Given the description of an element on the screen output the (x, y) to click on. 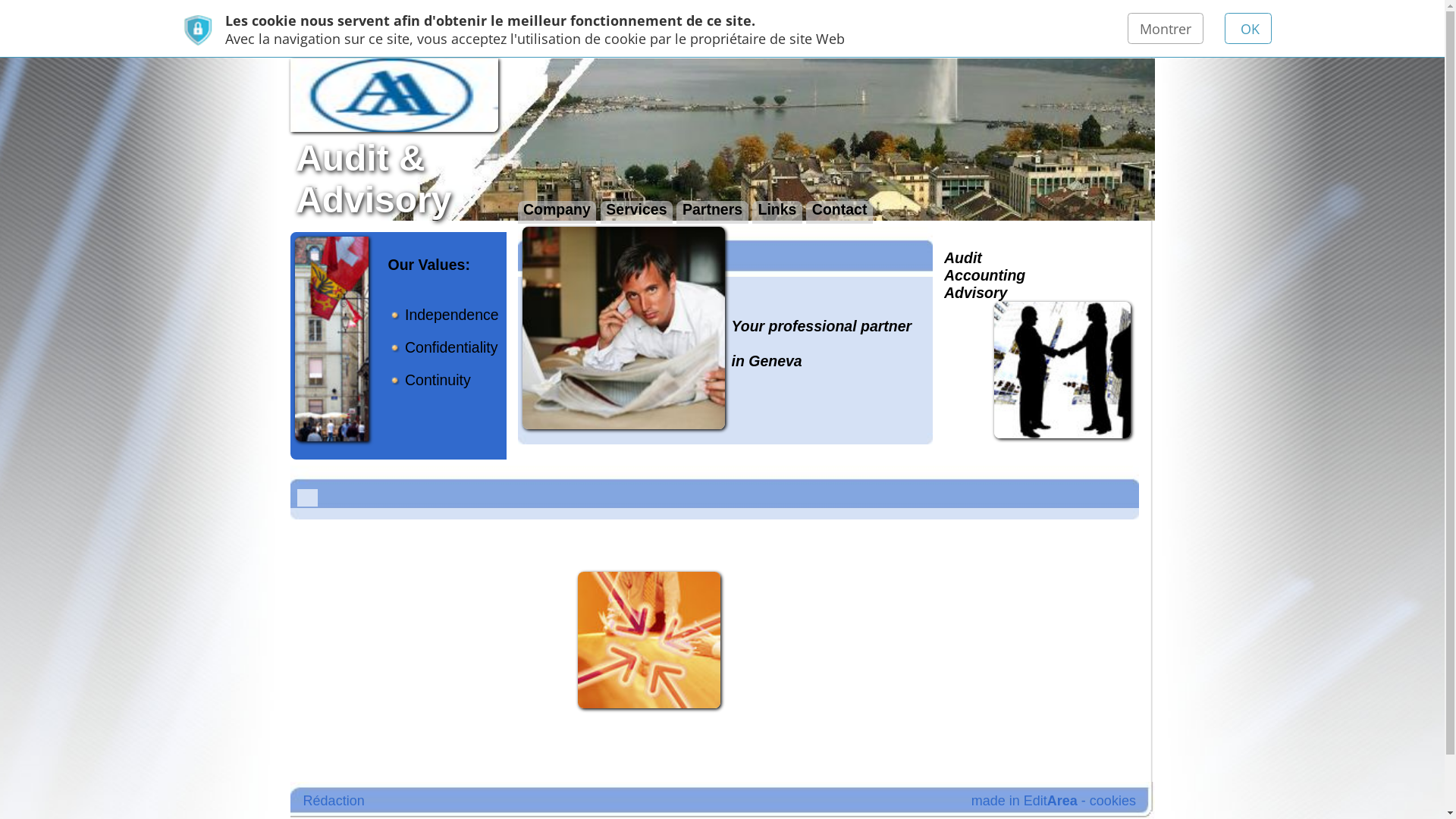
made in EditArea Element type: text (682, 533)
res309_19132602.jpg Element type: hover (432, 426)
Contact Element type: text (559, 141)
Links Element type: text (517, 141)
Company Element type: text (371, 141)
cookies Element type: text (741, 533)
Partners Element type: text (474, 141)
Audit & Advisory
Company Services Partners Links Contact Element type: text (481, 92)
OK Element type: text (831, 18)
Montrer Element type: text (776, 18)
Services Element type: text (424, 141)
